Given the description of an element on the screen output the (x, y) to click on. 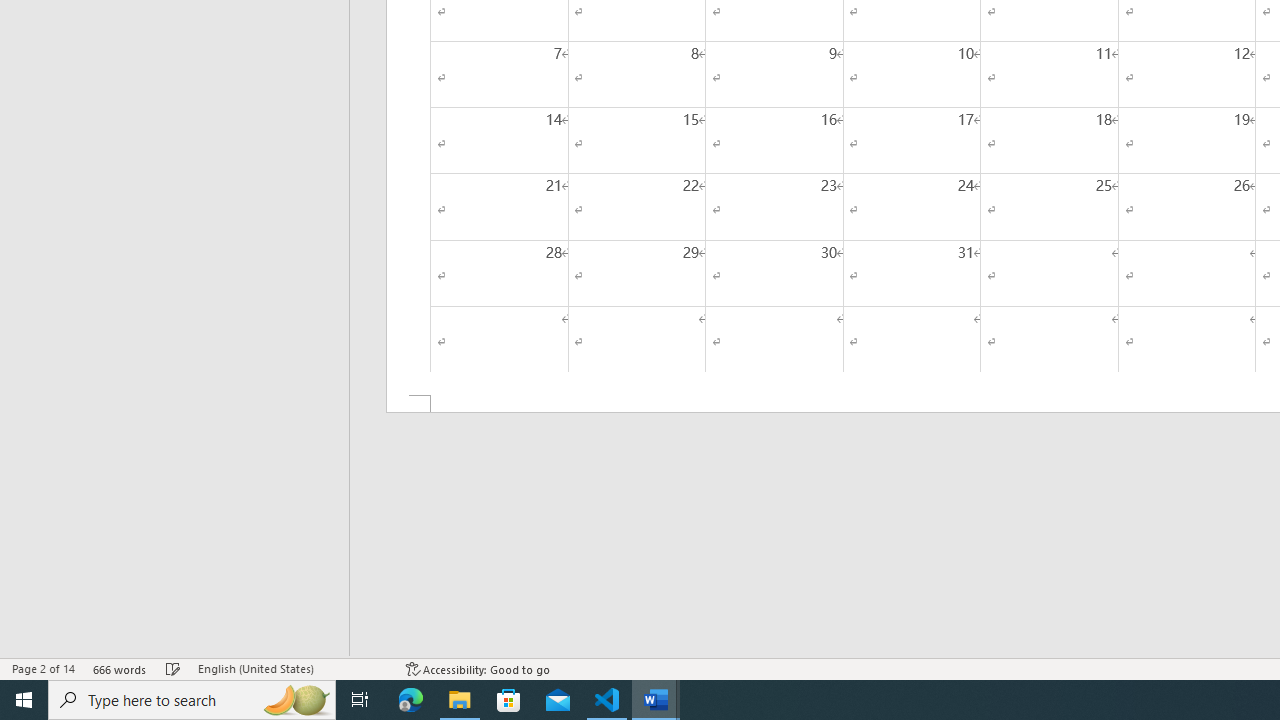
Page Number Page 2 of 14 (43, 668)
